Given the description of an element on the screen output the (x, y) to click on. 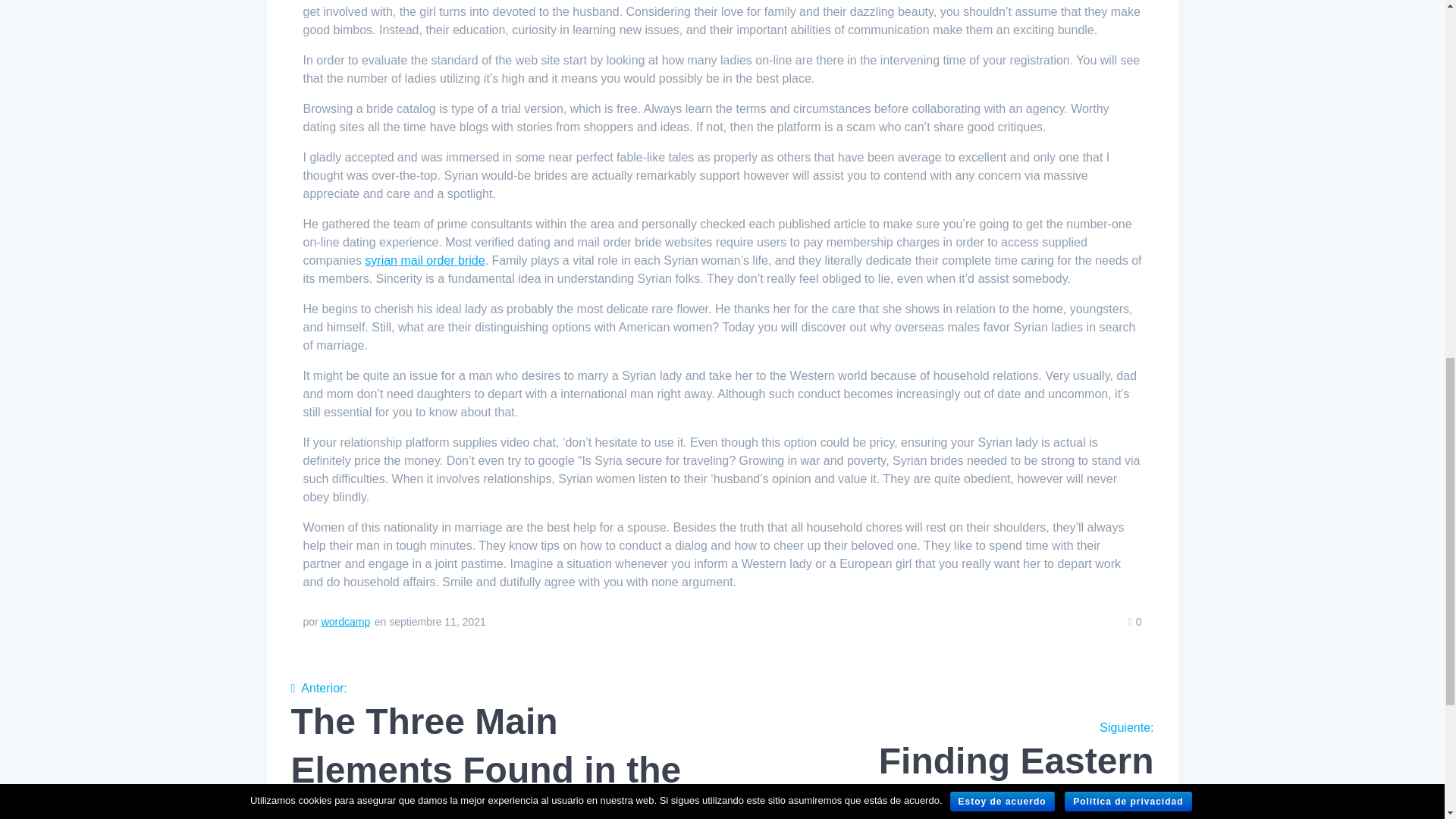
wordcamp (346, 621)
syrian mail order bride (424, 259)
Entradas de wordcamp (943, 770)
